Given the description of an element on the screen output the (x, y) to click on. 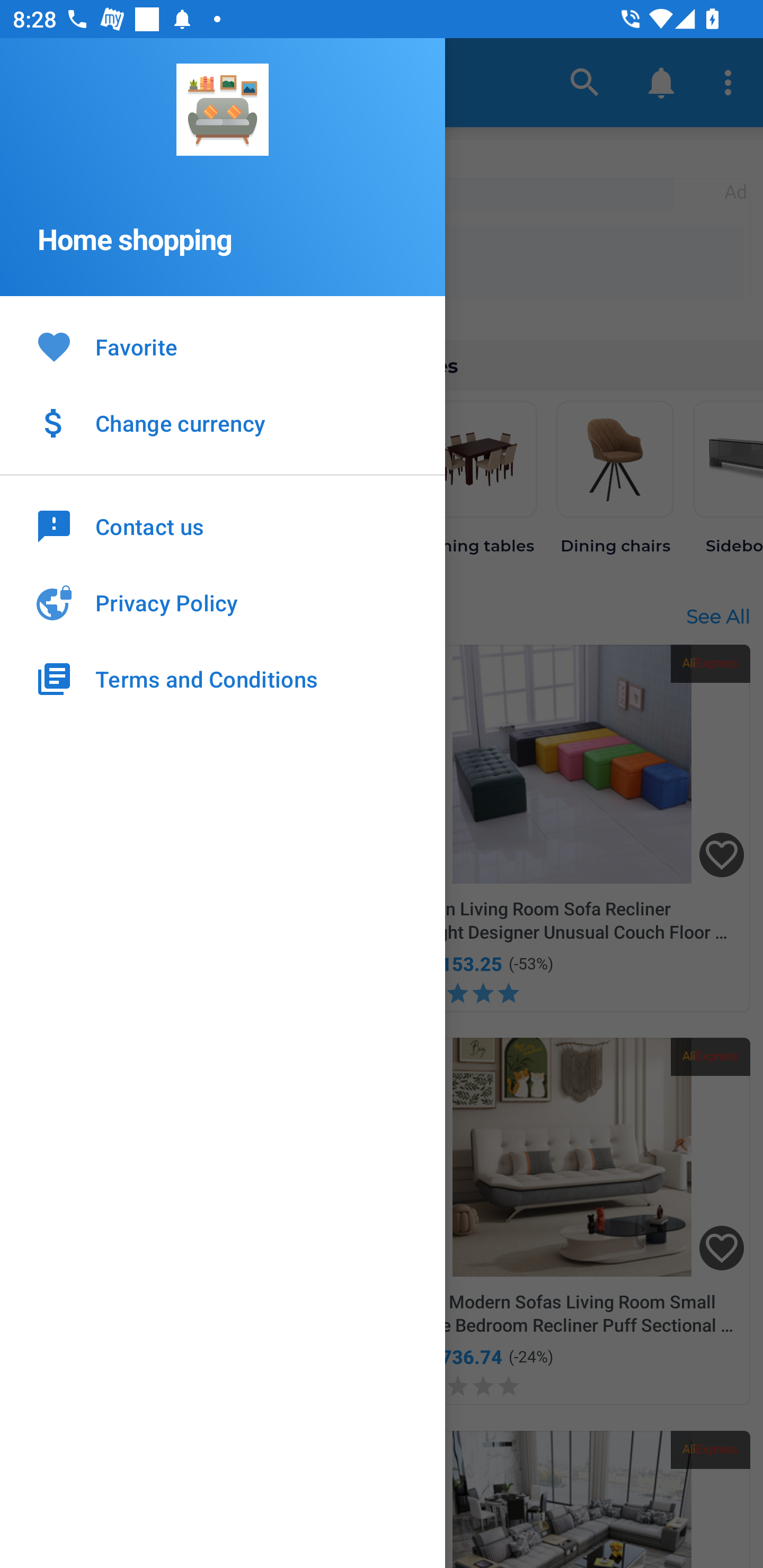
Favorite (222, 346)
Change currency (222, 422)
Contact us (222, 525)
Privacy Policy (222, 602)
Terms and Conditions (222, 678)
